Given the description of an element on the screen output the (x, y) to click on. 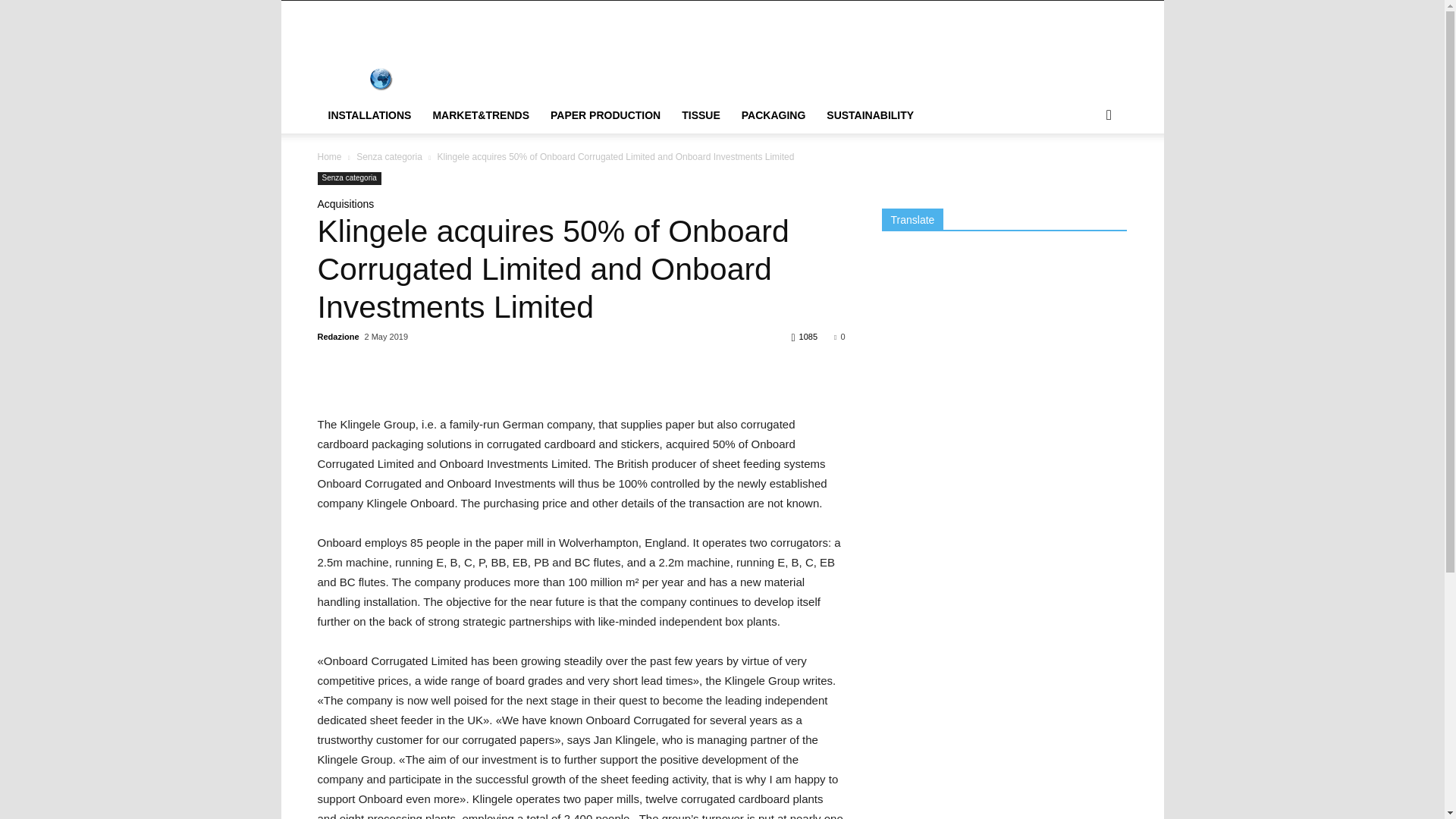
PAPER PRODUCTION (605, 115)
PACKAGING (773, 115)
INSTALLATIONS (369, 115)
SUSTAINABILITY (869, 115)
View all posts in Senza categoria (389, 156)
Posts by Redazione (337, 336)
TISSUE (700, 115)
